Given the description of an element on the screen output the (x, y) to click on. 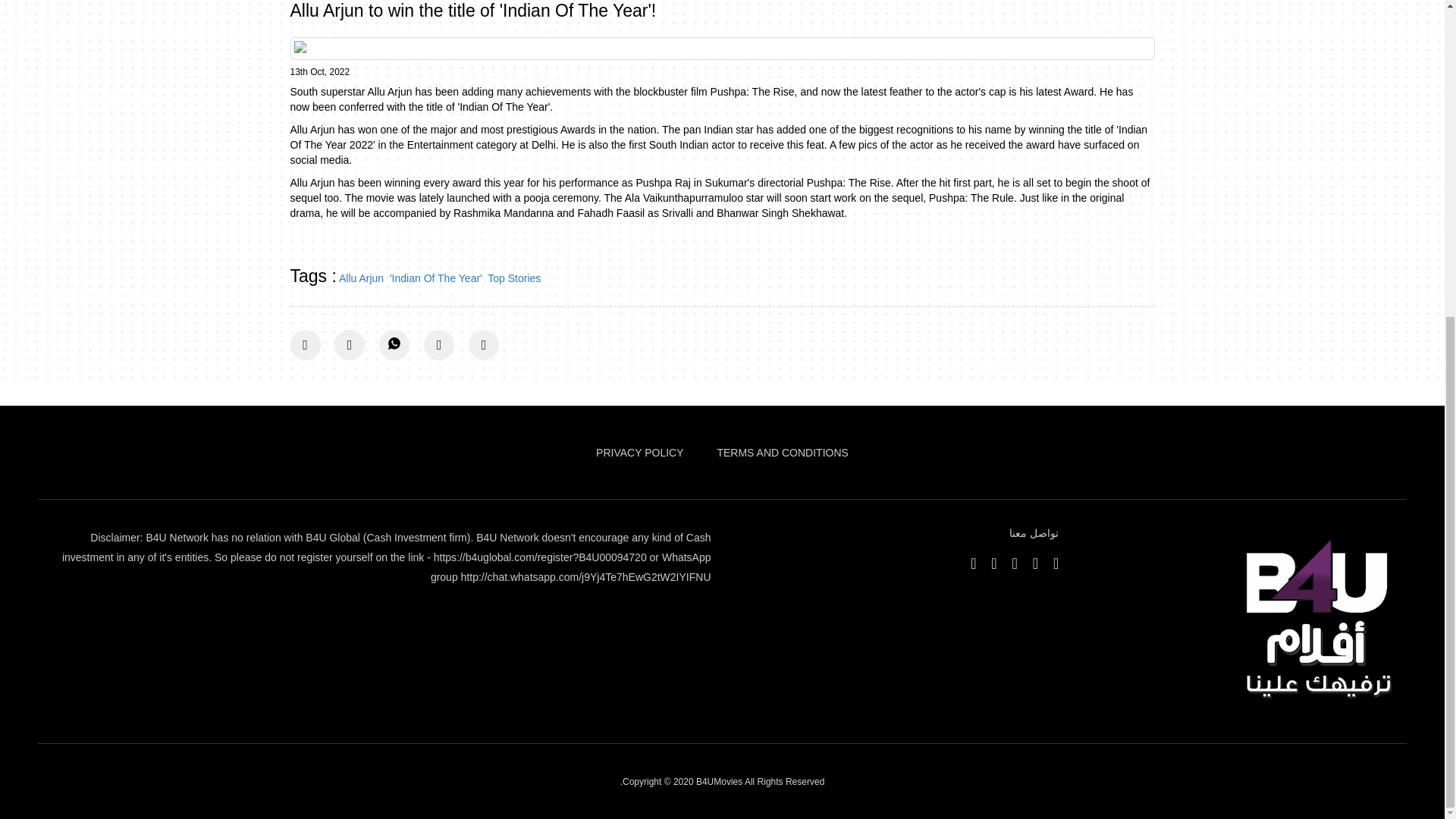
PRIVACY POLICY (638, 452)
Top Stories (513, 277)
TERMS AND CONDITIONS (781, 452)
Allu Arjun (361, 277)
'Indian Of The Year' (435, 277)
